Given the description of an element on the screen output the (x, y) to click on. 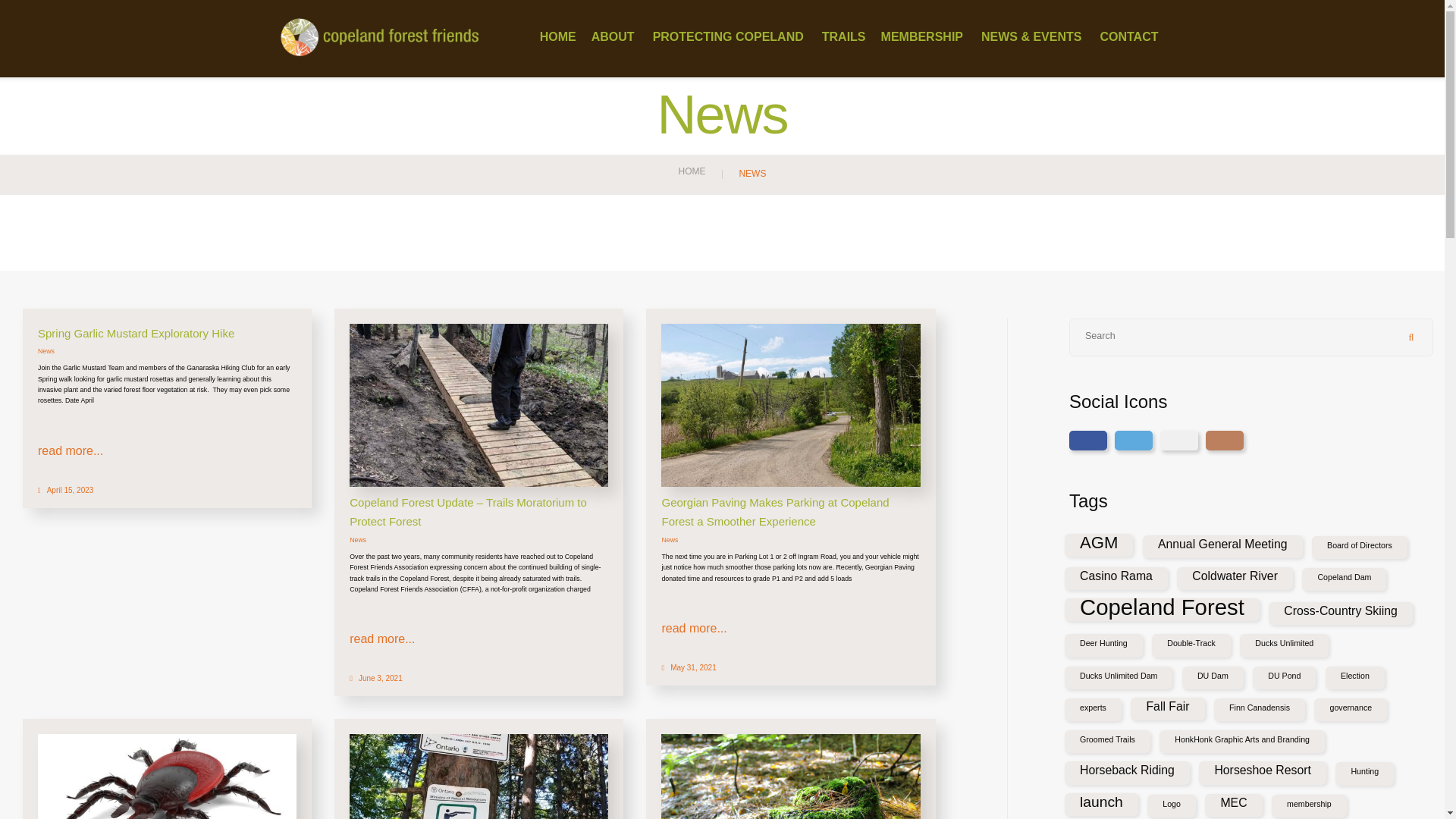
MEMBERSHIP (923, 37)
Spring Garlic Mustard Exploratory Hike (135, 332)
News (357, 539)
PROTECTING COPELAND (729, 37)
HOME (692, 171)
Twitter (1134, 440)
News (46, 350)
read more... (70, 450)
read more... (693, 627)
read more... (381, 638)
Home (692, 171)
Flickr (1179, 440)
Ticks and Lyme Disease (167, 813)
CONTACT (1129, 37)
